Given the description of an element on the screen output the (x, y) to click on. 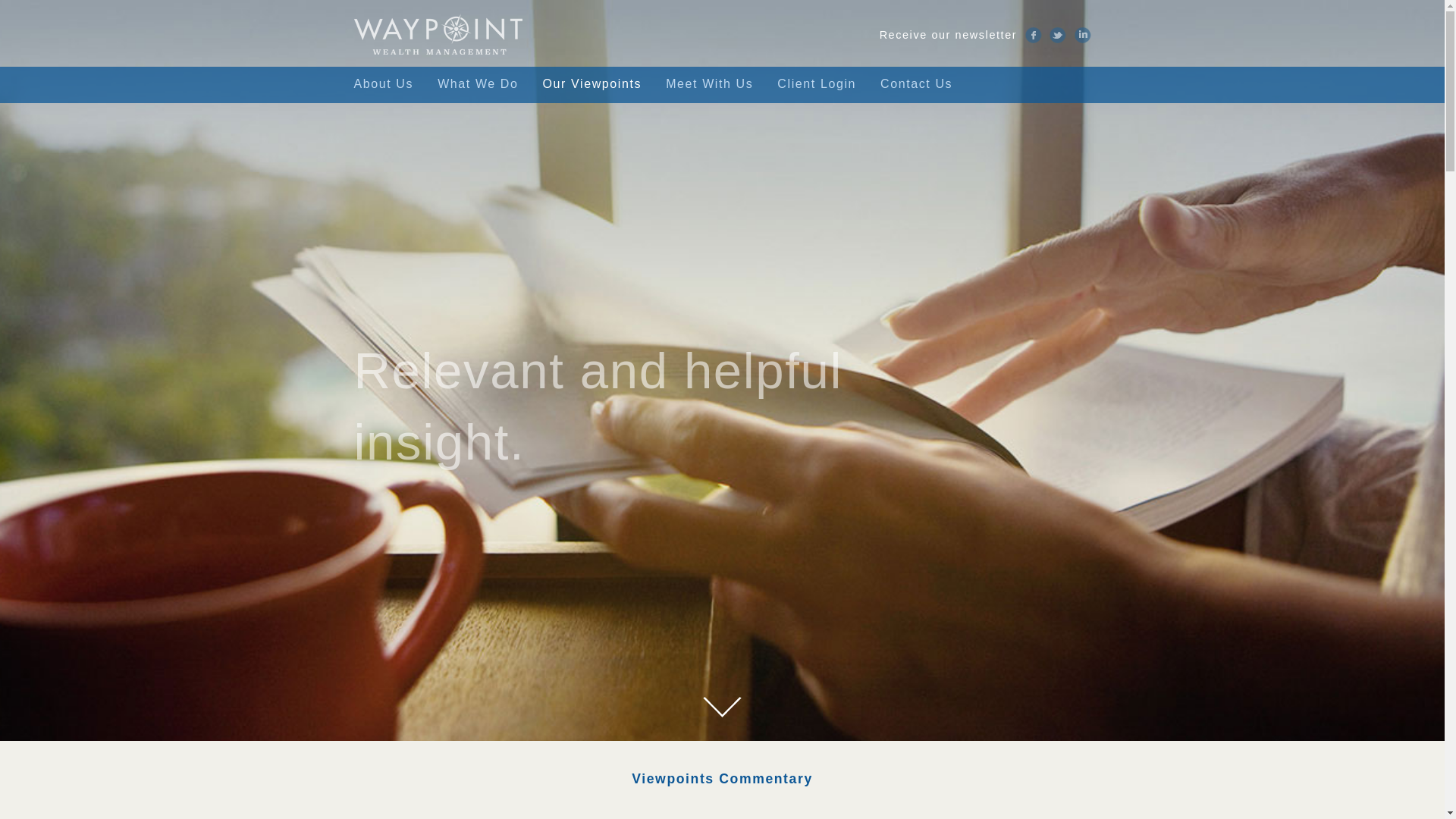
About Us (389, 84)
What We Do (477, 84)
Meet With Us (709, 84)
Client Login (816, 84)
Receive our newsletter (948, 34)
Viewpoints Commentary (721, 778)
Our Viewpoints (592, 84)
Contact Us (915, 84)
